Given the description of an element on the screen output the (x, y) to click on. 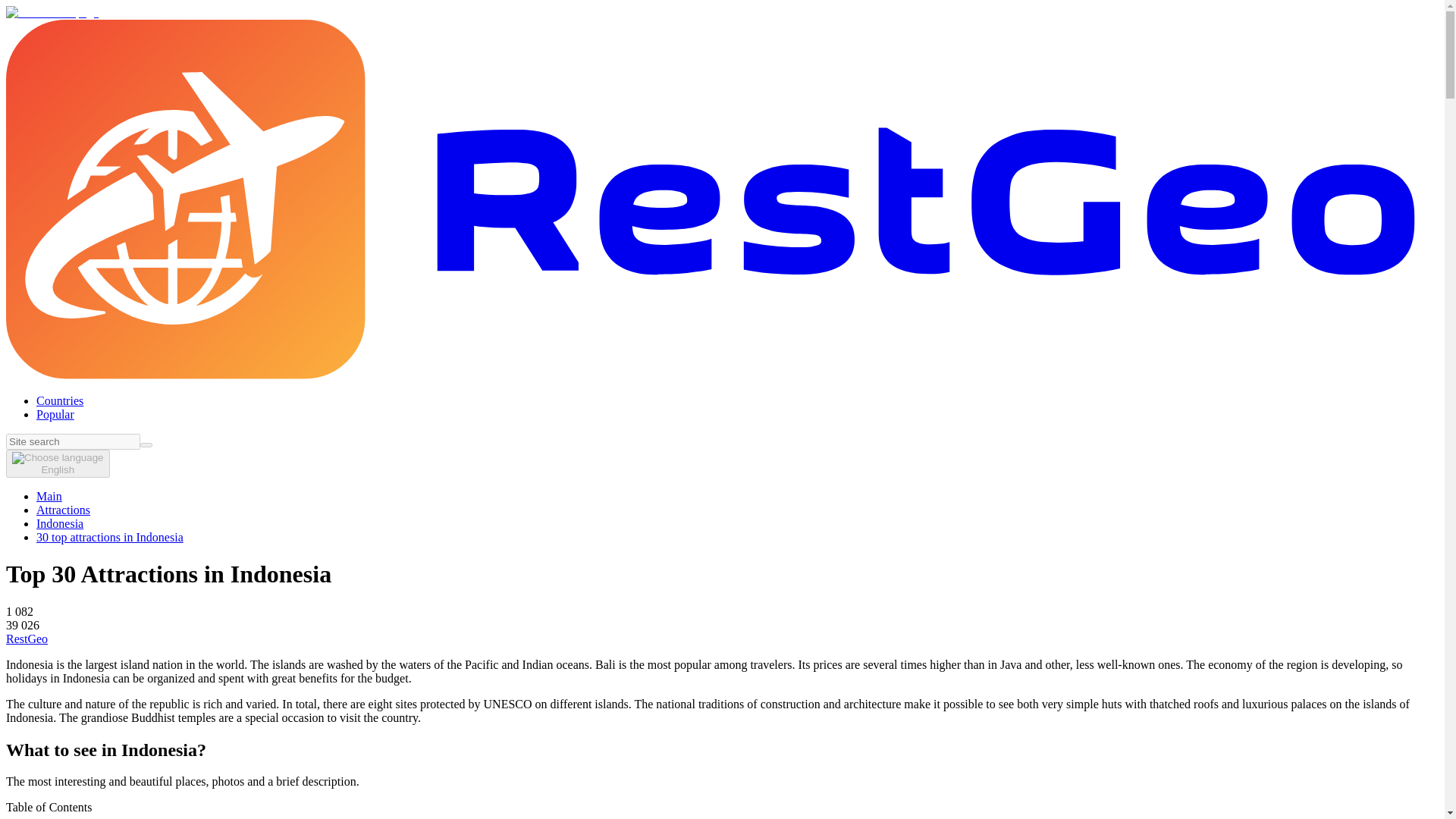
Countries (59, 400)
Main (49, 495)
Choose language (57, 463)
Attractions (63, 509)
Indonesia (59, 522)
Popular (55, 413)
30 top attractions in Indonesia (109, 536)
Author (26, 638)
Indonesia (59, 522)
30 top attractions in Indonesia (109, 536)
